Given the description of an element on the screen output the (x, y) to click on. 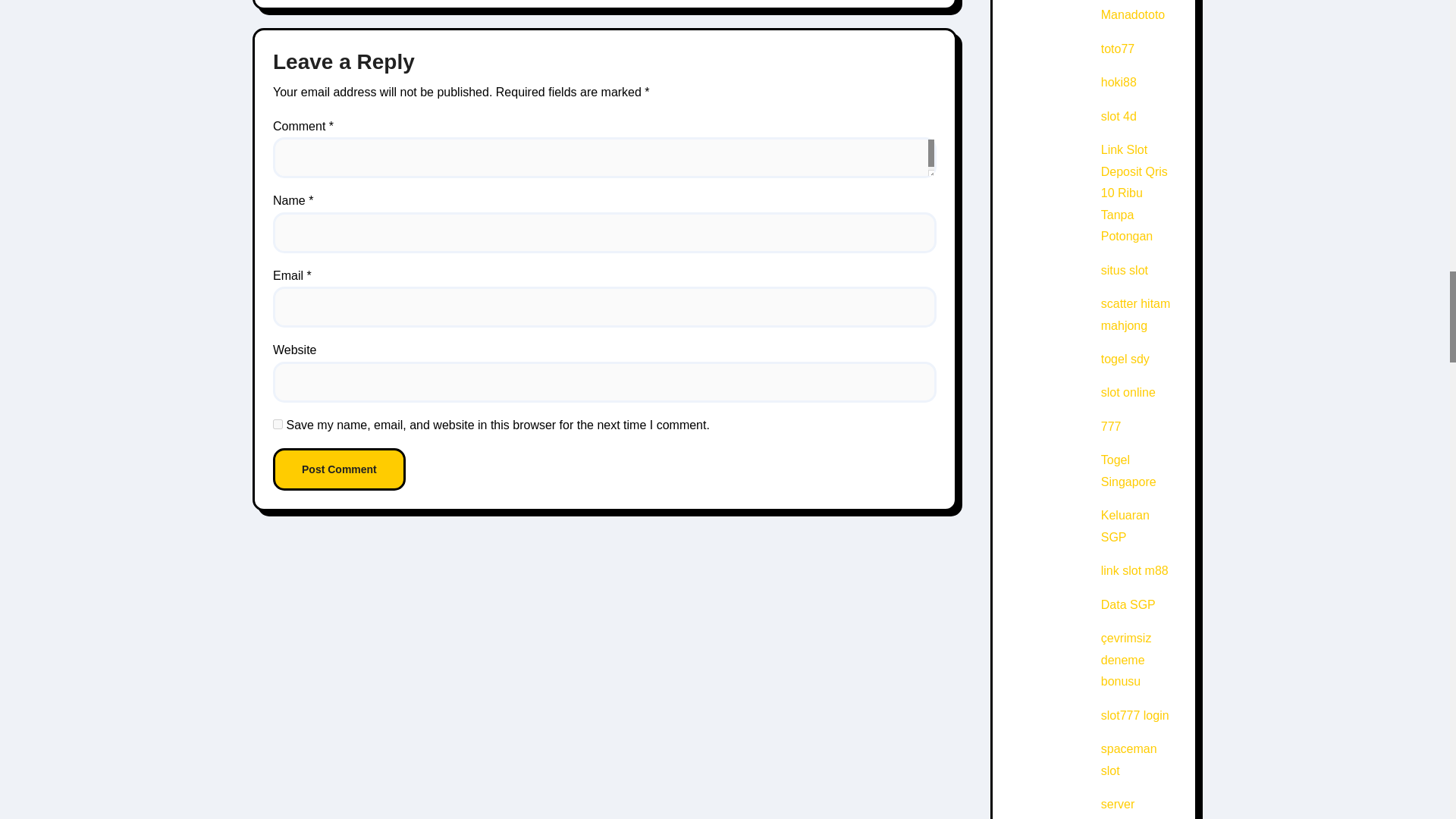
yes (277, 424)
Post Comment (339, 468)
